Given the description of an element on the screen output the (x, y) to click on. 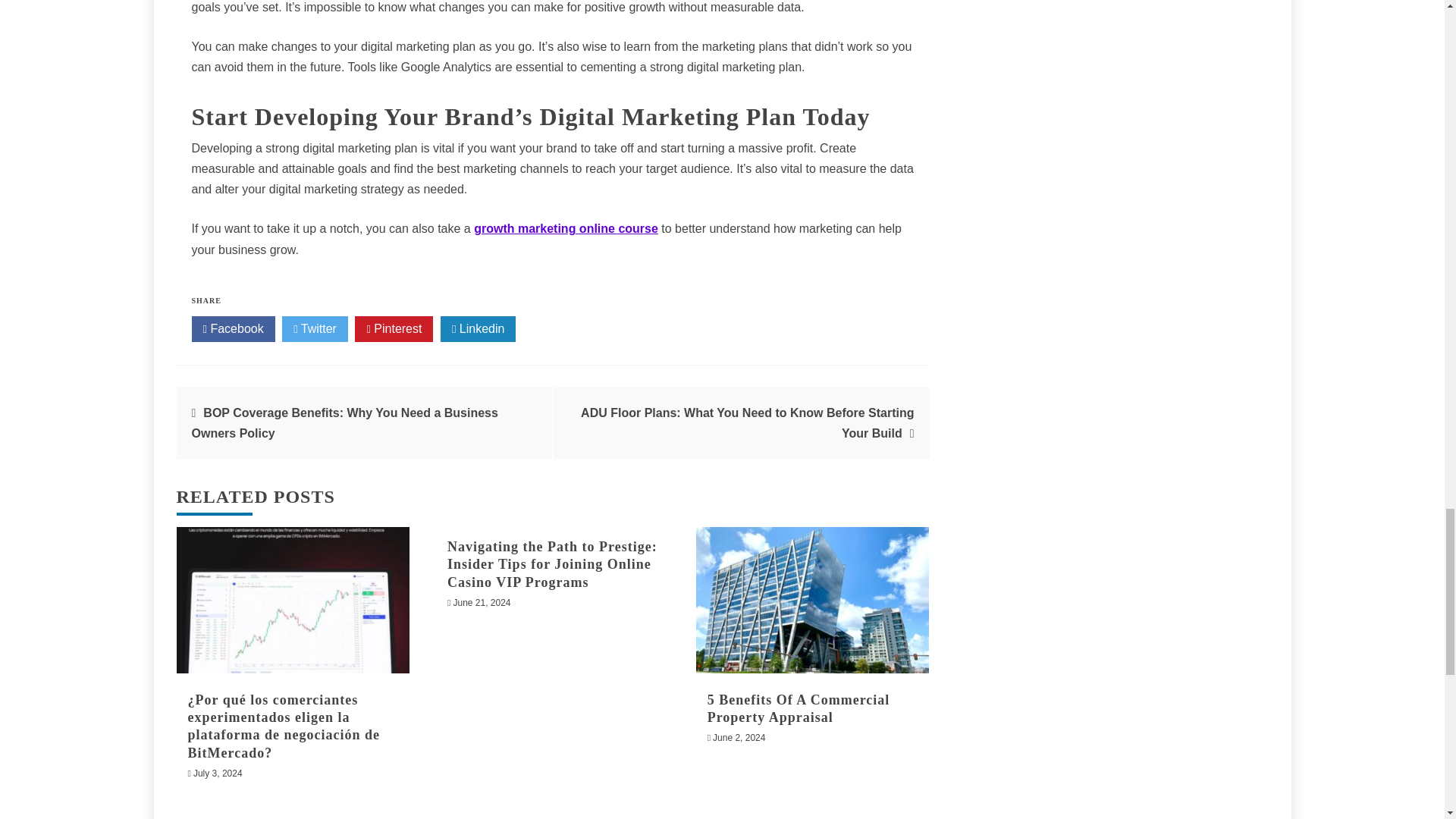
Pinterest (393, 329)
July 3, 2024 (218, 773)
5 Benefits Of A Commercial Property Appraisal (798, 708)
growth marketing online course (566, 228)
BOP Coverage Benefits: Why You Need a Business Owners Policy (343, 422)
Facebook (232, 329)
June 21, 2024 (481, 602)
June 2, 2024 (739, 737)
Twitter (314, 329)
Linkedin (478, 329)
